Given the description of an element on the screen output the (x, y) to click on. 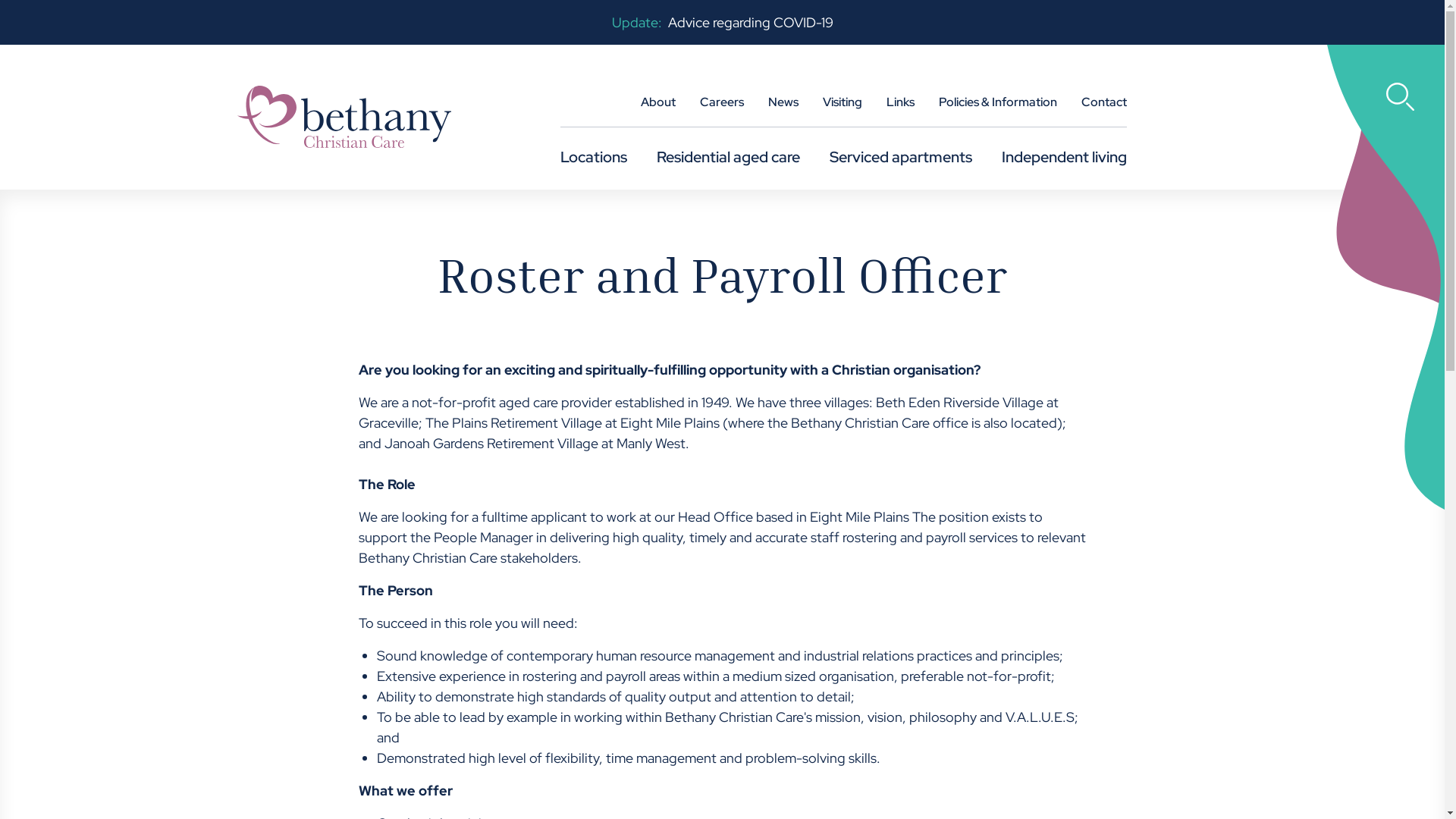
Links Element type: text (900, 108)
Residential aged care Element type: text (728, 156)
Contact Element type: text (1103, 108)
Update:
Advice regarding COVID-19 Element type: text (722, 22)
Locations Element type: text (593, 156)
Independent living Element type: text (1063, 156)
Serviced apartments Element type: text (900, 156)
Careers Element type: text (721, 108)
Visiting Element type: text (842, 108)
About Element type: text (657, 108)
News Element type: text (783, 108)
Policies & Information Element type: text (997, 108)
